Given the description of an element on the screen output the (x, y) to click on. 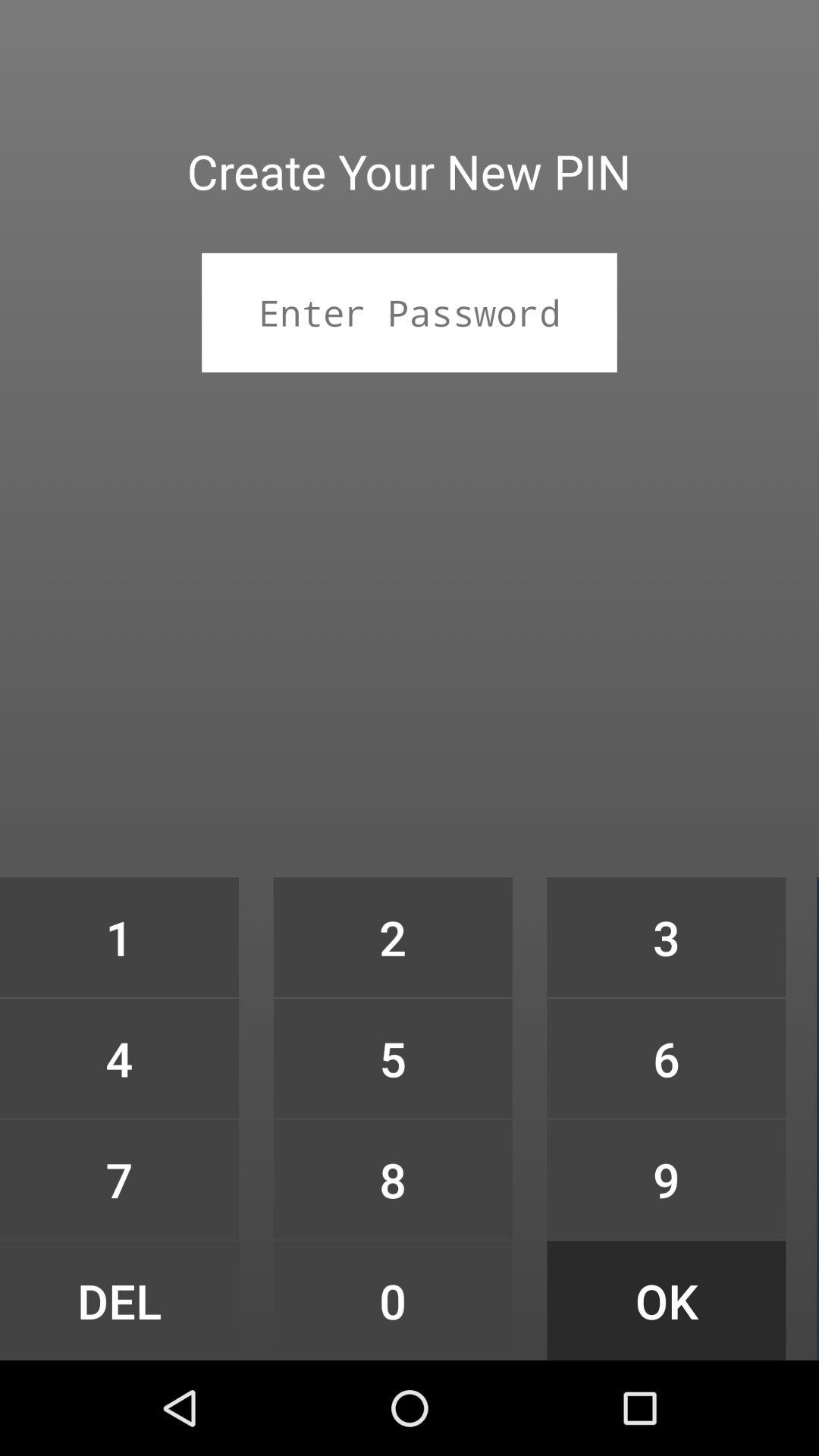
tap 2 item (392, 937)
